Given the description of an element on the screen output the (x, y) to click on. 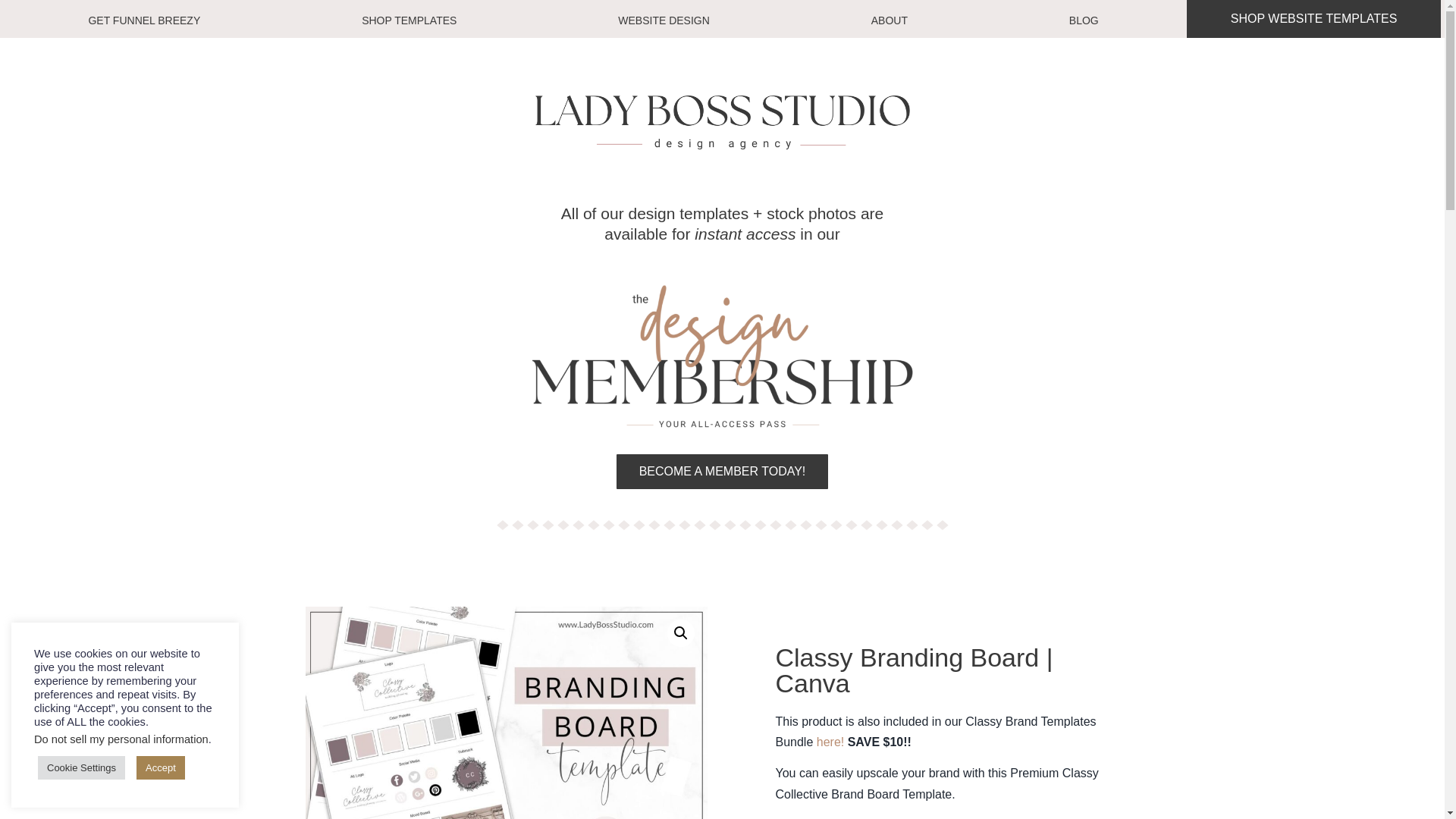
ABOUT (889, 20)
WEBSITE DESIGN (663, 20)
BLOG (1083, 20)
SHOP TEMPLATES (409, 20)
GET FUNNEL BREEZY (144, 20)
